Given the description of an element on the screen output the (x, y) to click on. 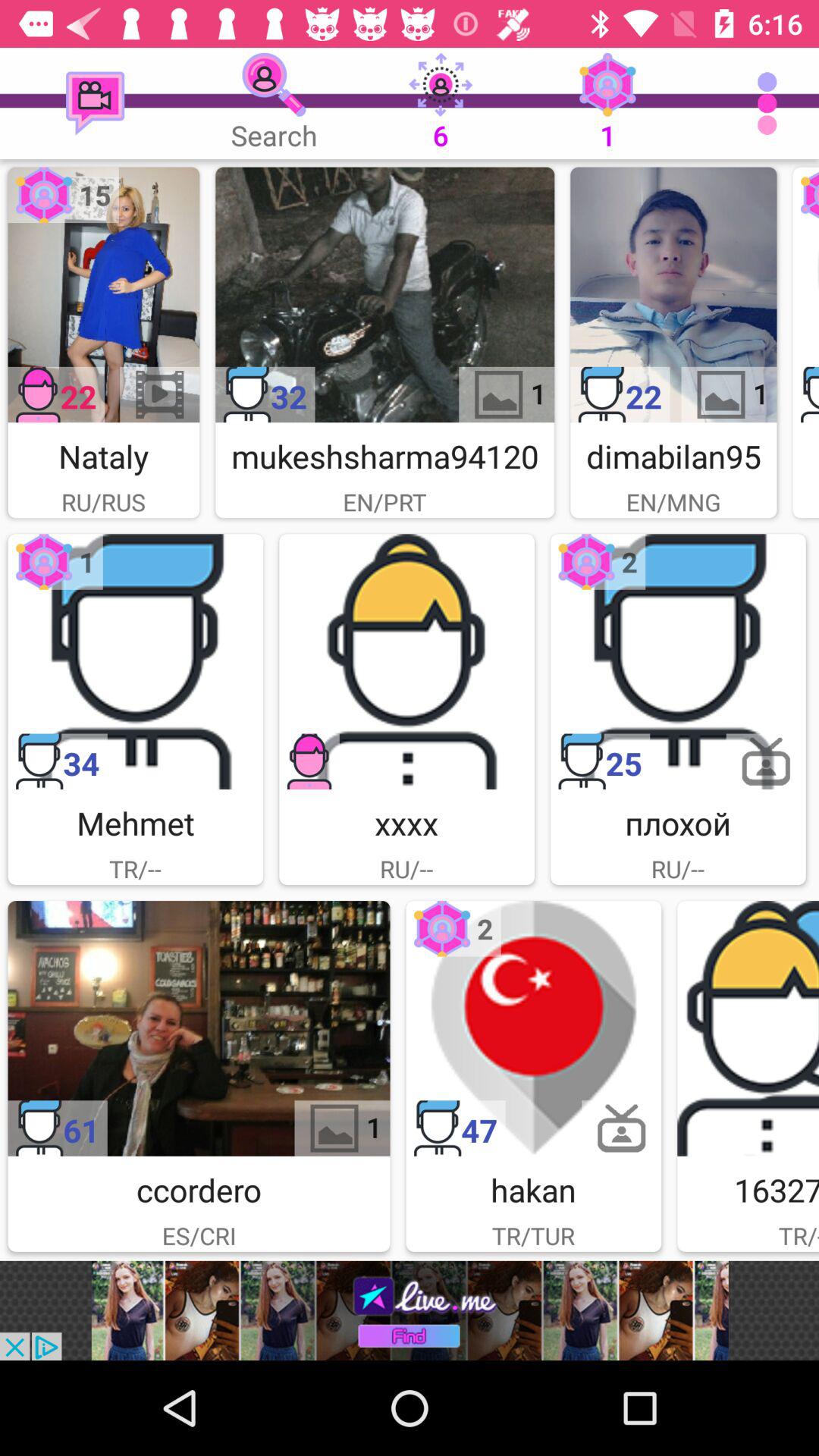
click on a user (805, 294)
